Given the description of an element on the screen output the (x, y) to click on. 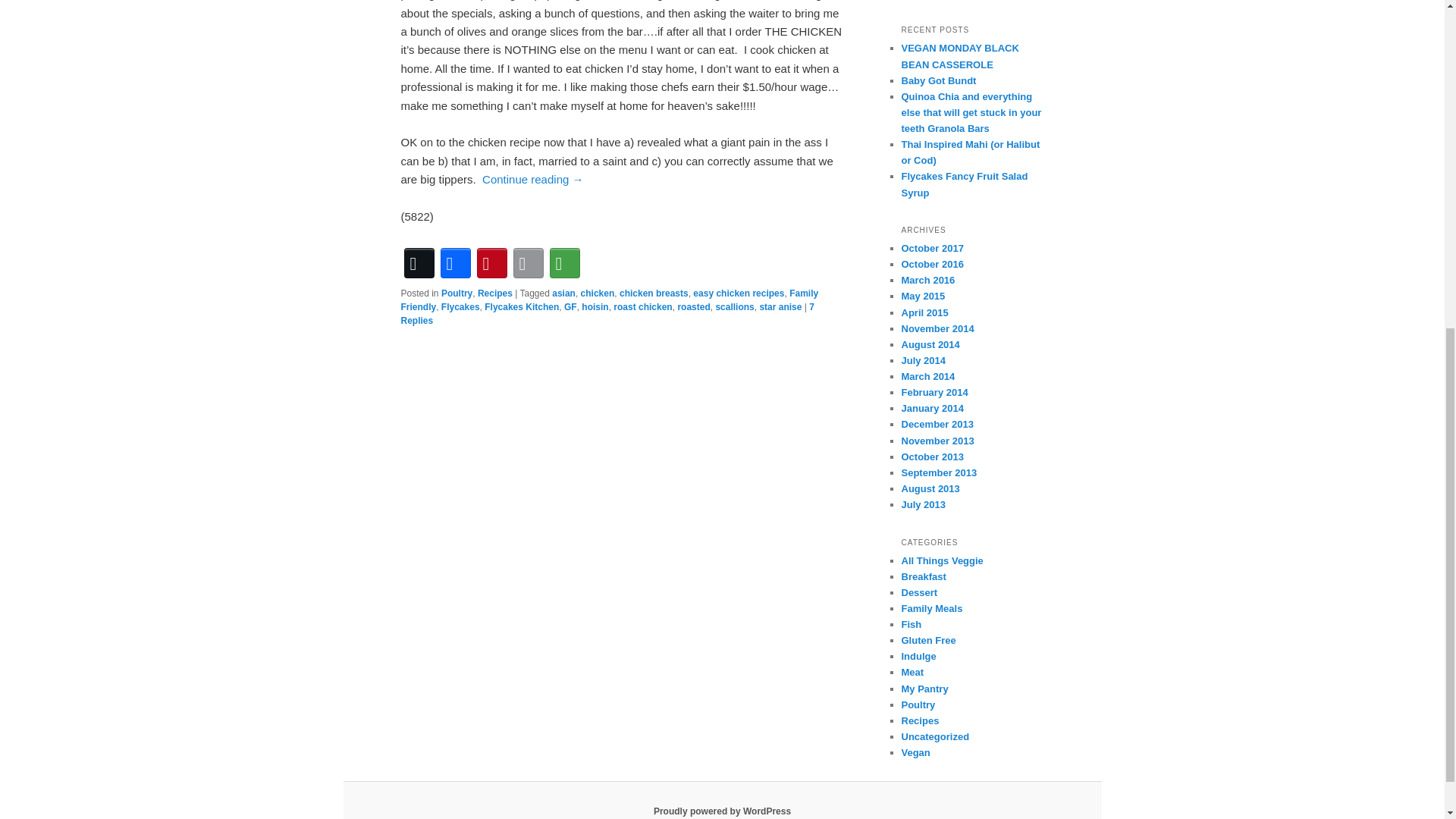
Family Friendly (609, 300)
Facebook (454, 262)
Email This (527, 262)
Semantic Personal Publishing Platform (721, 810)
Poultry (456, 293)
easy chicken recipes (738, 293)
chicken breasts (654, 293)
asian (563, 293)
Flycakes (460, 307)
chicken (597, 293)
